Given the description of an element on the screen output the (x, y) to click on. 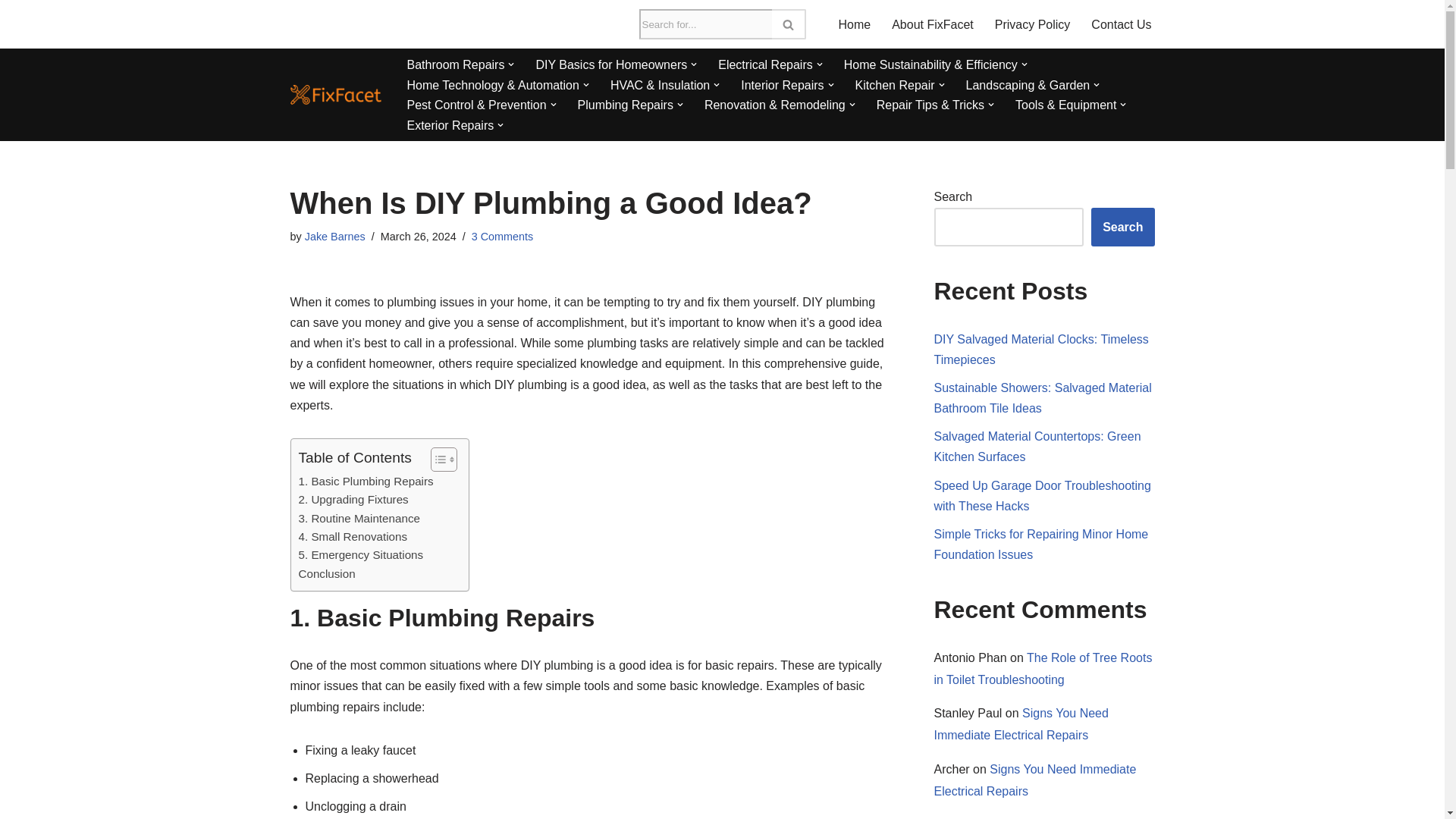
DIY Basics for Homeowners (611, 64)
Electrical Repairs (764, 64)
5. Emergency Situations (360, 555)
Bathroom Repairs (454, 64)
1. Basic Plumbing Repairs (365, 481)
Conclusion (326, 574)
About FixFacet (932, 24)
Home (854, 24)
3. Routine Maintenance (359, 518)
Skip to content (11, 31)
Posts by Jake Barnes (334, 236)
Contact Us (1120, 24)
Interior Repairs (782, 85)
Kitchen Repair (895, 85)
Privacy Policy (1032, 24)
